Given the description of an element on the screen output the (x, y) to click on. 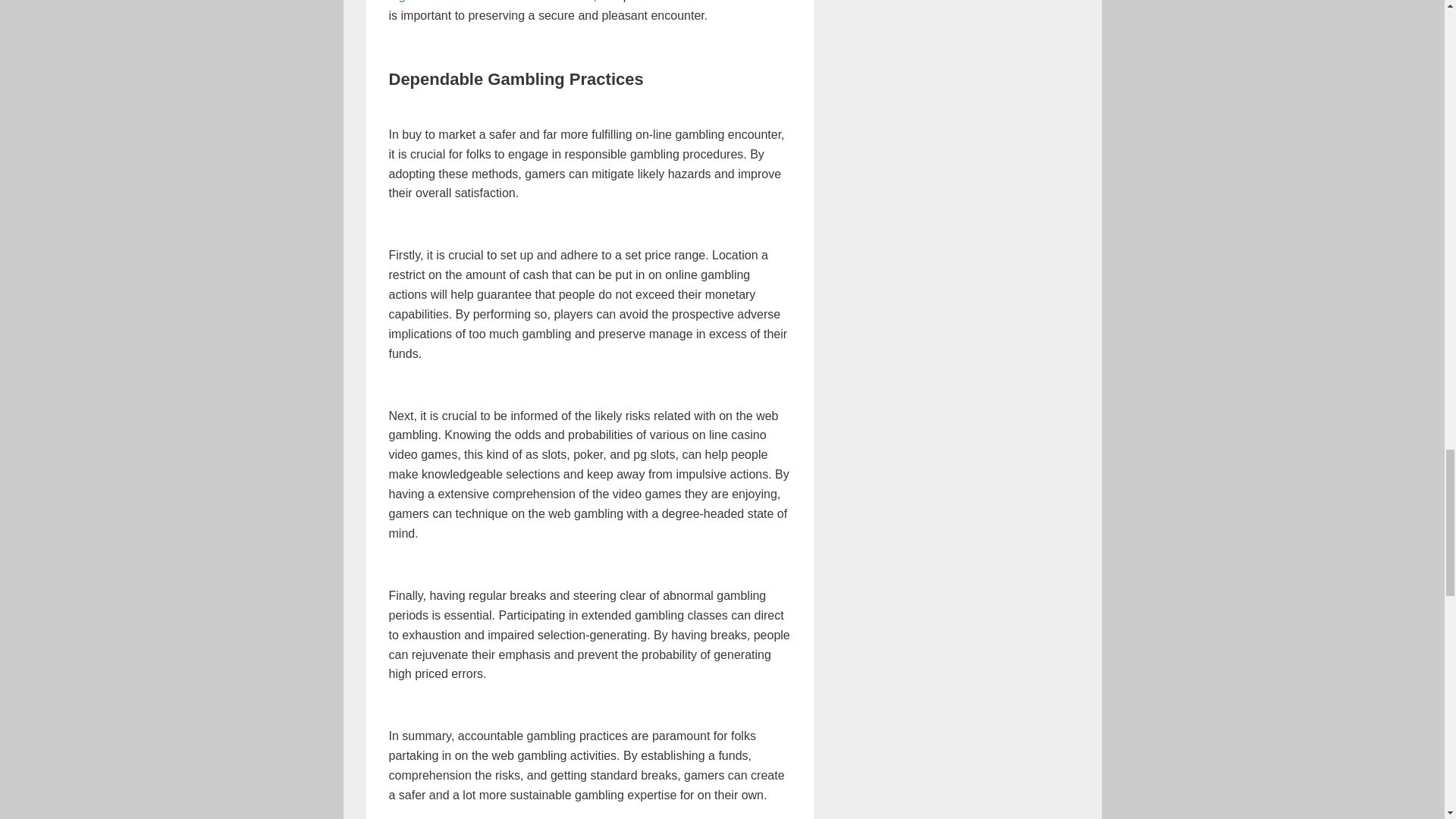
togel (401, 1)
